Given the description of an element on the screen output the (x, y) to click on. 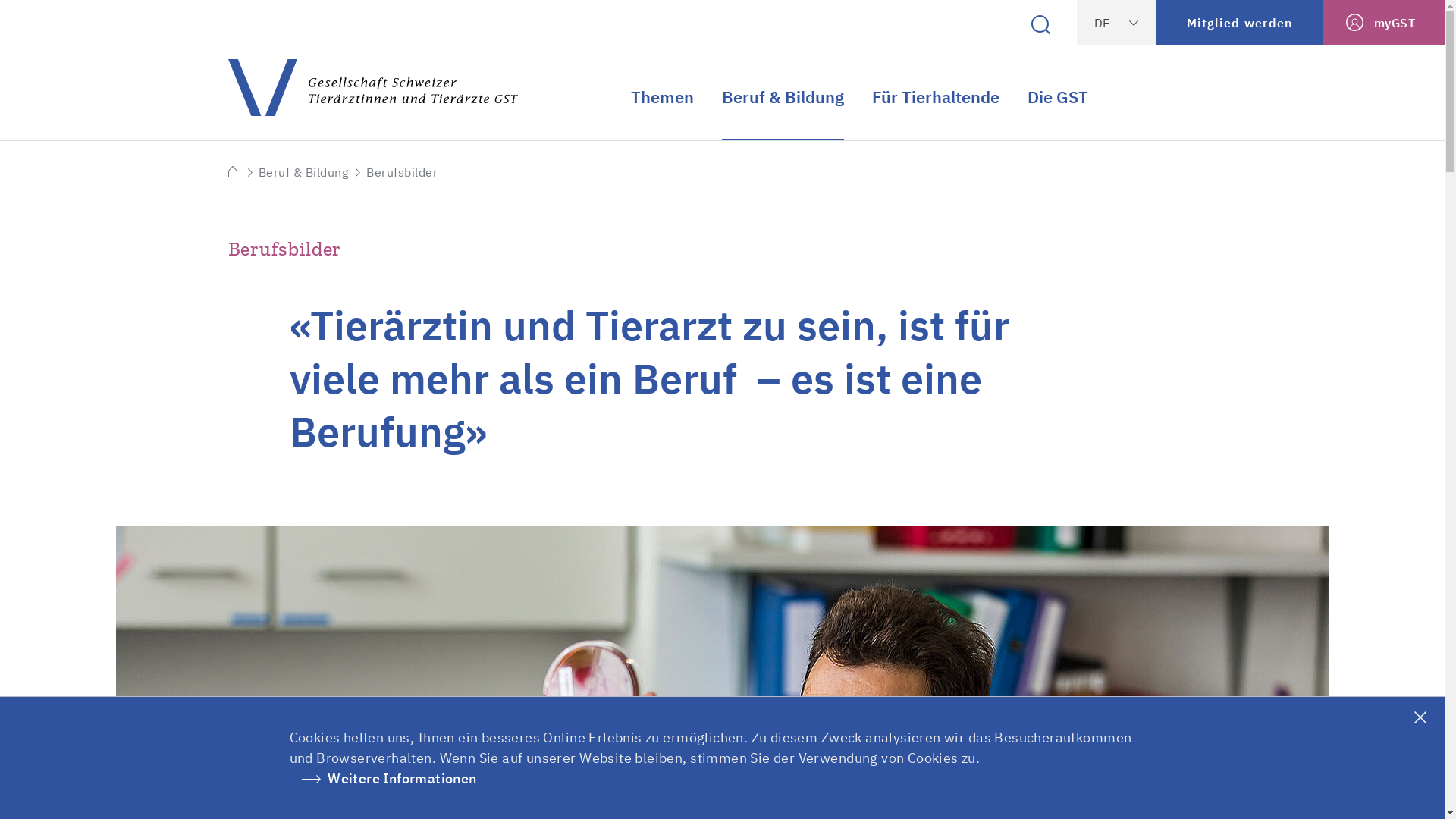
Beruf & Bildung Element type: text (302, 171)
myGST Element type: text (1383, 22)
DE Element type: text (1115, 22)
Akzeptieren Element type: text (1421, 717)
Mitglied werden Element type: text (1238, 22)
Weitere Informationen Element type: text (382, 779)
